Given the description of an element on the screen output the (x, y) to click on. 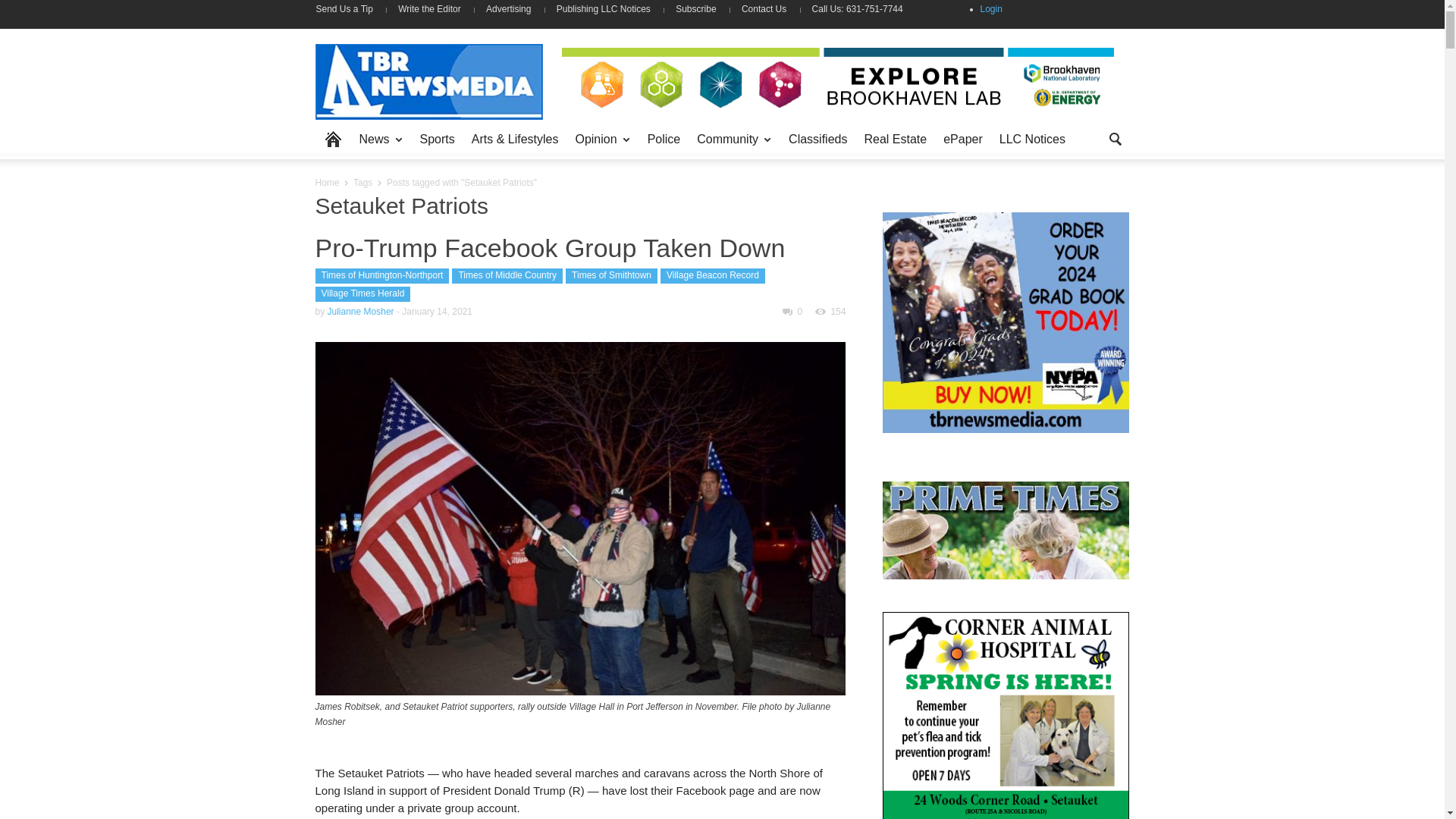
Pro-Trump Facebook Group Taken Down (550, 247)
Advertising (507, 9)
Send Us a Tip (349, 9)
Write the Editor (429, 9)
Write the Editor (429, 9)
Contact Us (763, 9)
Explore BNL (836, 80)
Advertising (507, 9)
Send Us a Tip (349, 9)
